Given the description of an element on the screen output the (x, y) to click on. 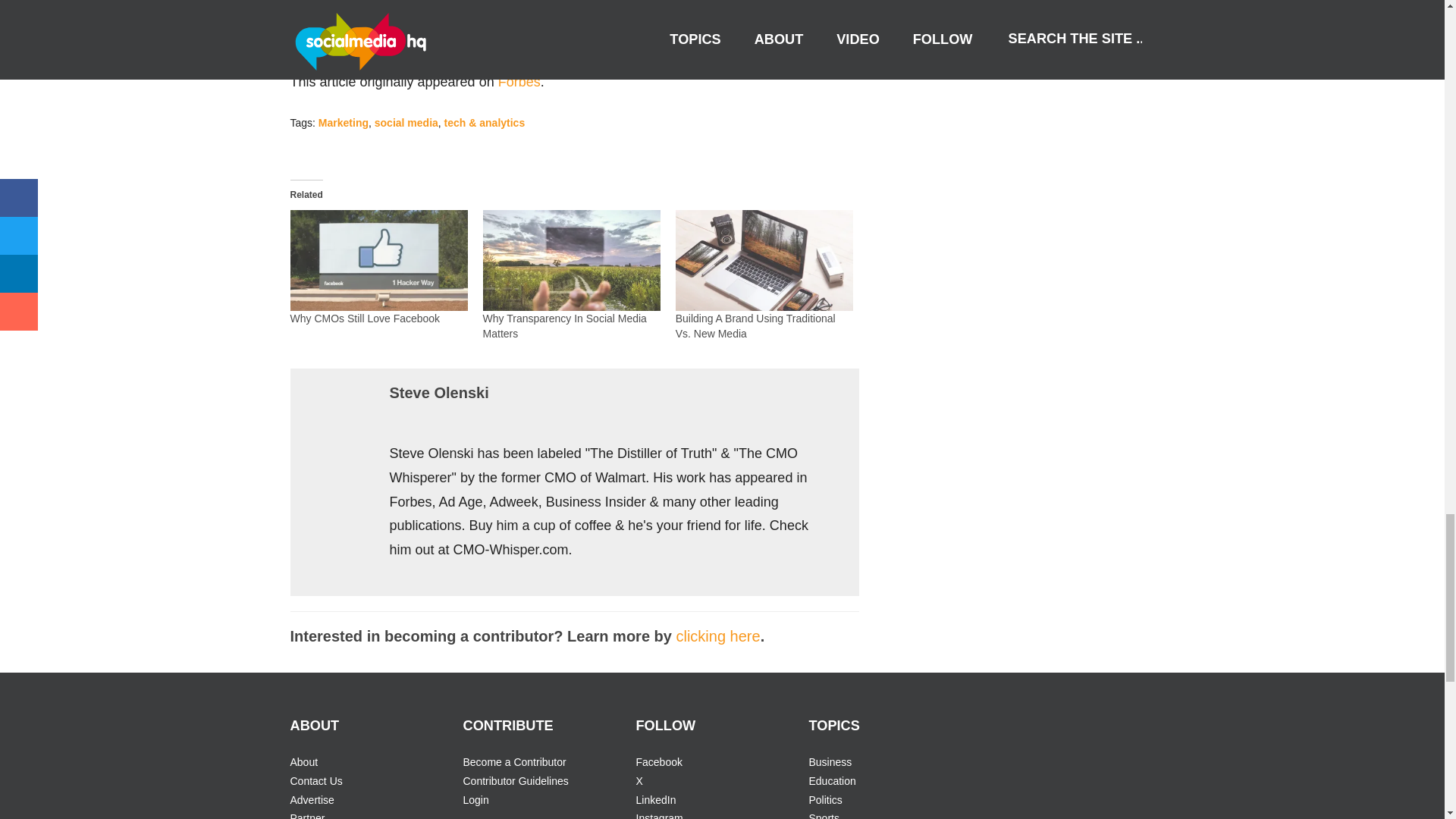
Building A Brand Using Traditional Vs. New Media (755, 325)
Building A Brand Using Traditional Vs. New Media (764, 260)
Marketing (343, 122)
Why Transparency In Social Media Matters (572, 260)
Building A Brand Using Traditional Vs. New Media (755, 325)
Why Transparency In Social Media Matters (564, 325)
Why Transparency In Social Media Matters (564, 325)
Why CMOs Still Love Facebook (378, 260)
Why CMOs Still Love Facebook (364, 318)
social media (406, 122)
Forbes (518, 81)
Why CMOs Still Love Facebook (364, 318)
